Given the description of an element on the screen output the (x, y) to click on. 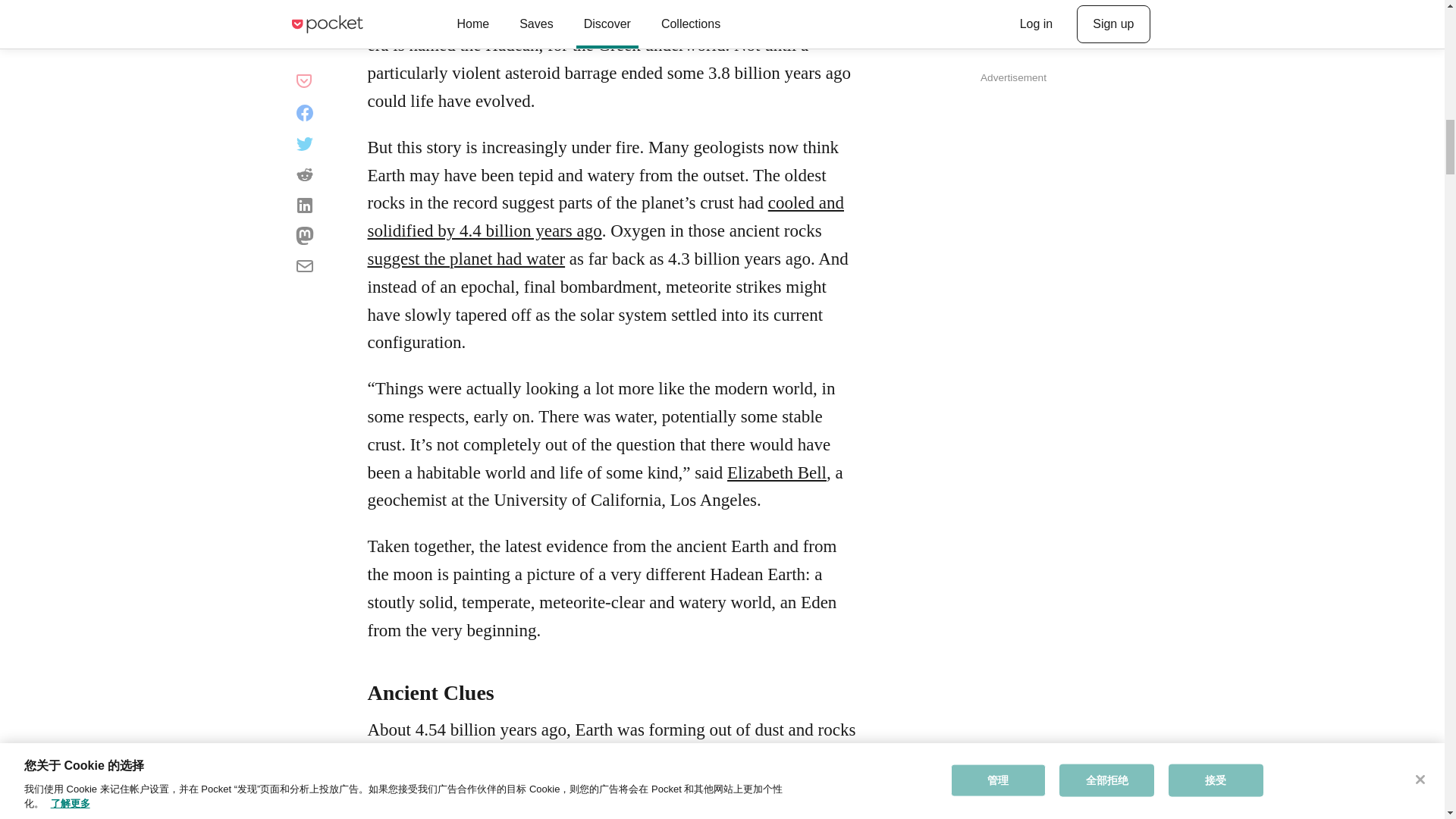
cooled and solidified by 4.4 billion years ago (604, 216)
suggest the planet had water (465, 258)
Elizabeth Bell (776, 472)
